Given the description of an element on the screen output the (x, y) to click on. 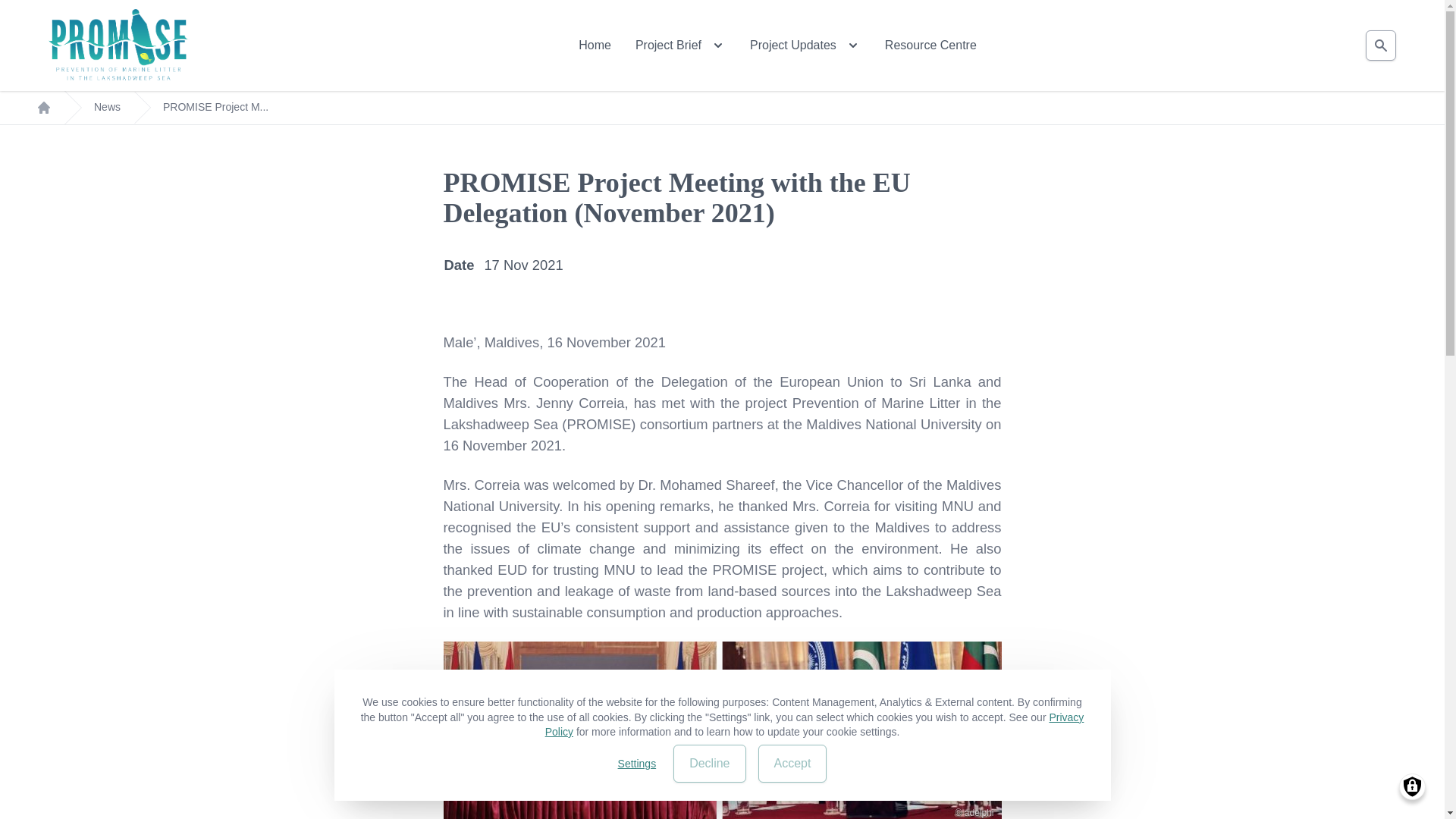
Home (594, 45)
Home (118, 45)
PROMISE Project Meeting with the EU Delegation (721, 730)
Project Updates (804, 45)
Project Brief (679, 45)
Search (1380, 45)
Resource Centre (930, 45)
News (107, 107)
